Given the description of an element on the screen output the (x, y) to click on. 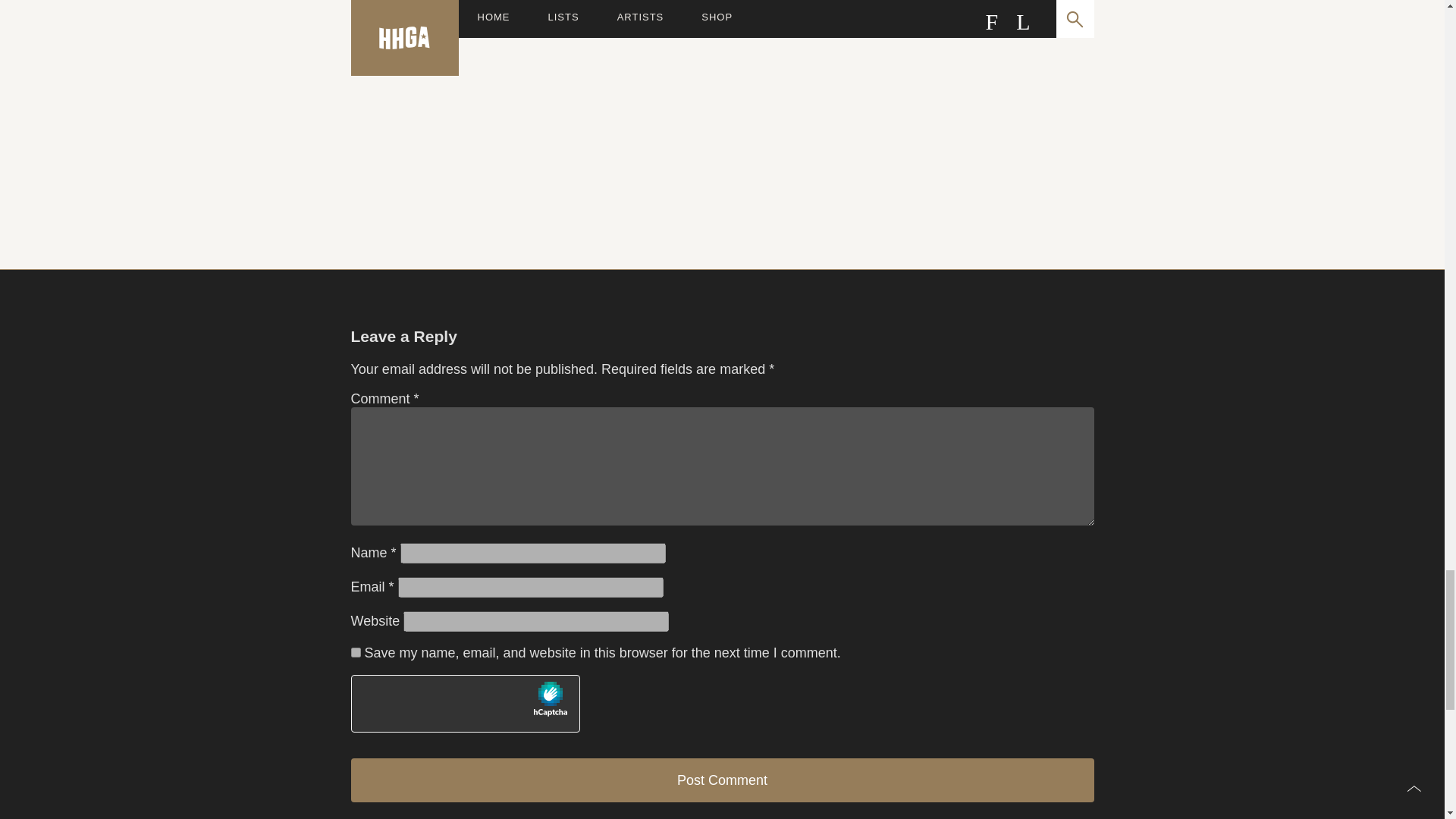
yes (354, 652)
Post Comment (721, 780)
Post Comment (721, 780)
